Given the description of an element on the screen output the (x, y) to click on. 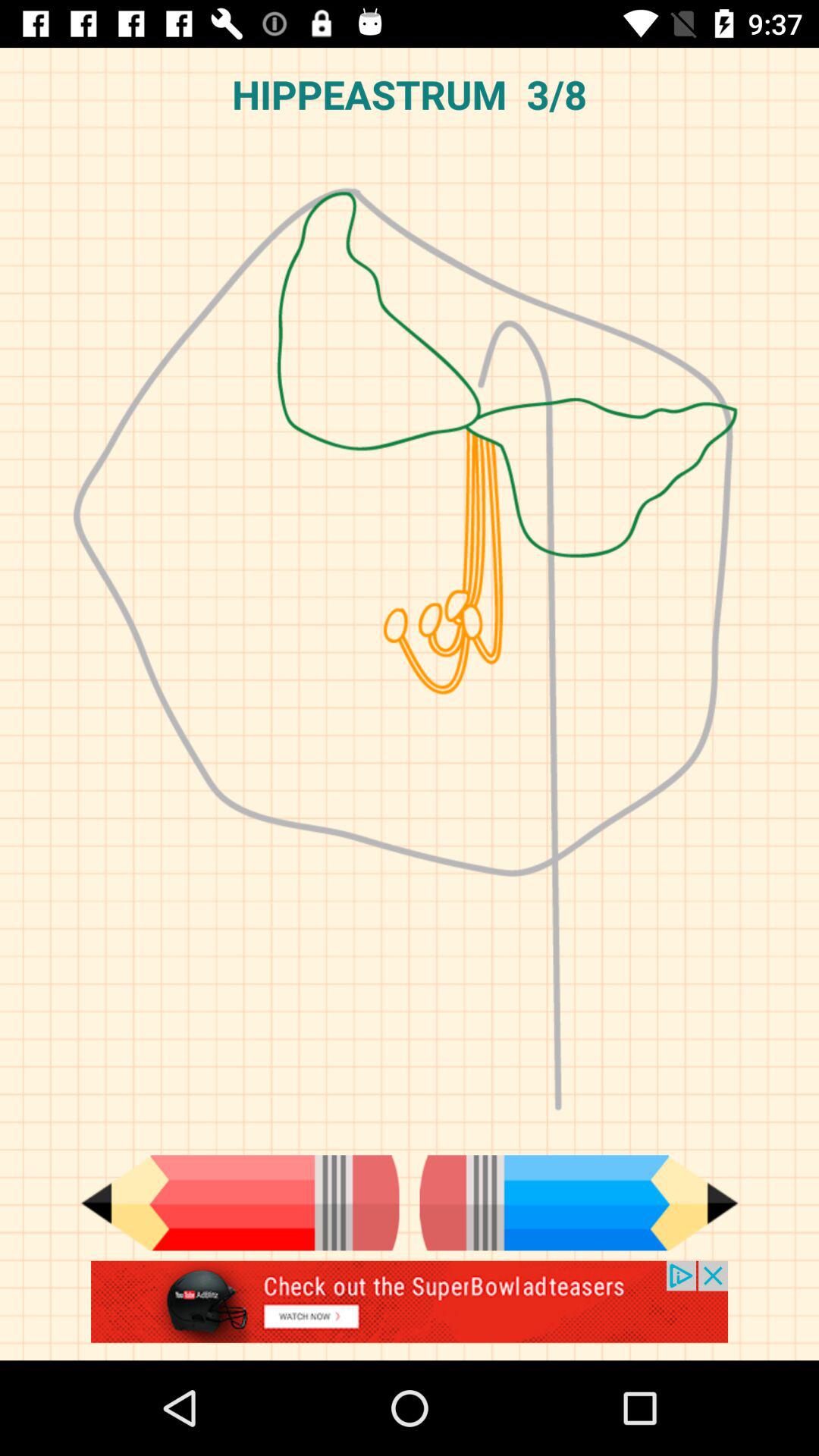
go to the advertised site (409, 1310)
